Given the description of an element on the screen output the (x, y) to click on. 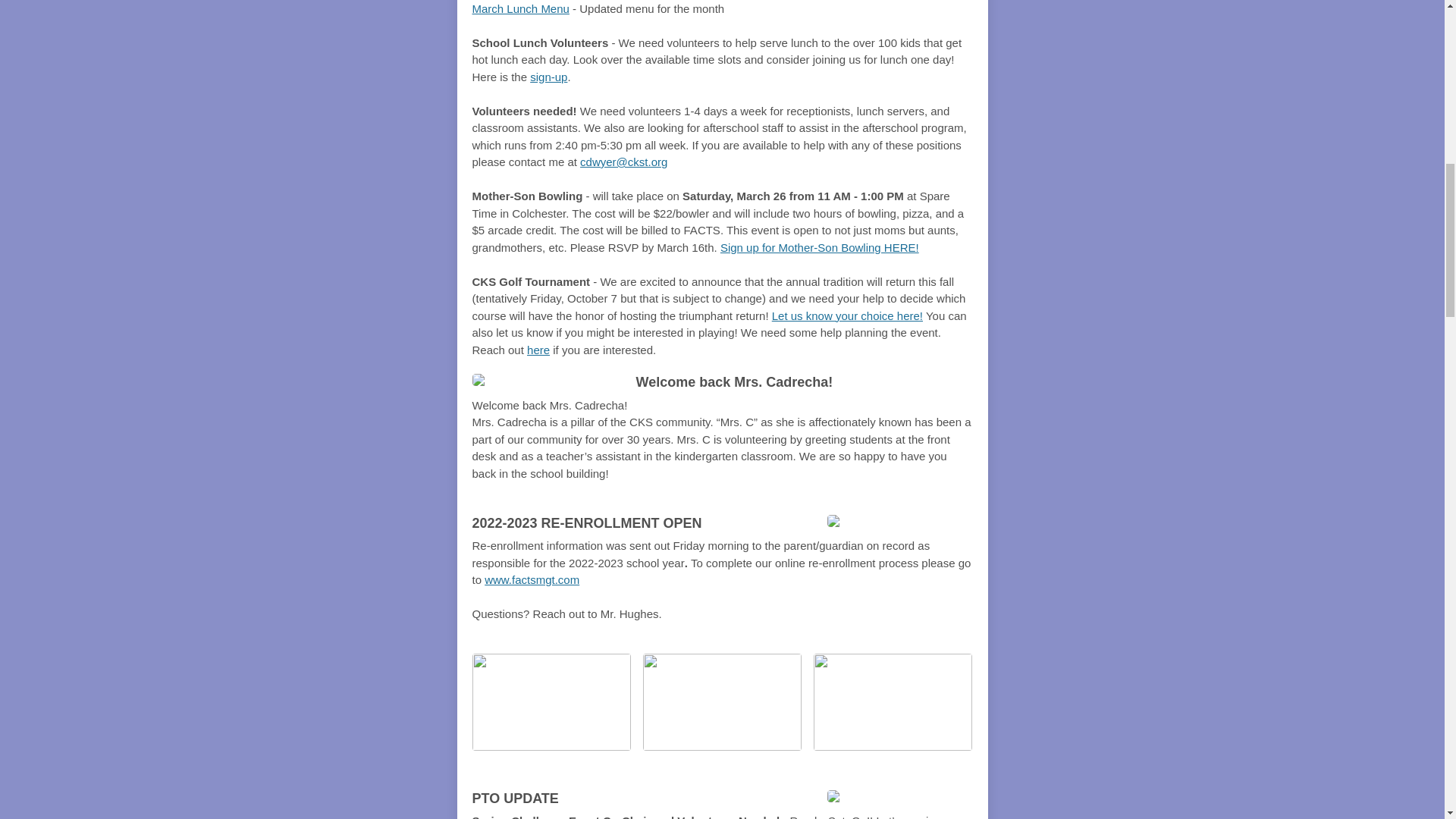
www.factsmgt.com (531, 579)
sign-up (548, 75)
Sign up for Mother-Son Bowling HERE! (819, 246)
here (538, 349)
March Lunch Menu (520, 7)
Let us know your choice here! (847, 315)
